Given the description of an element on the screen output the (x, y) to click on. 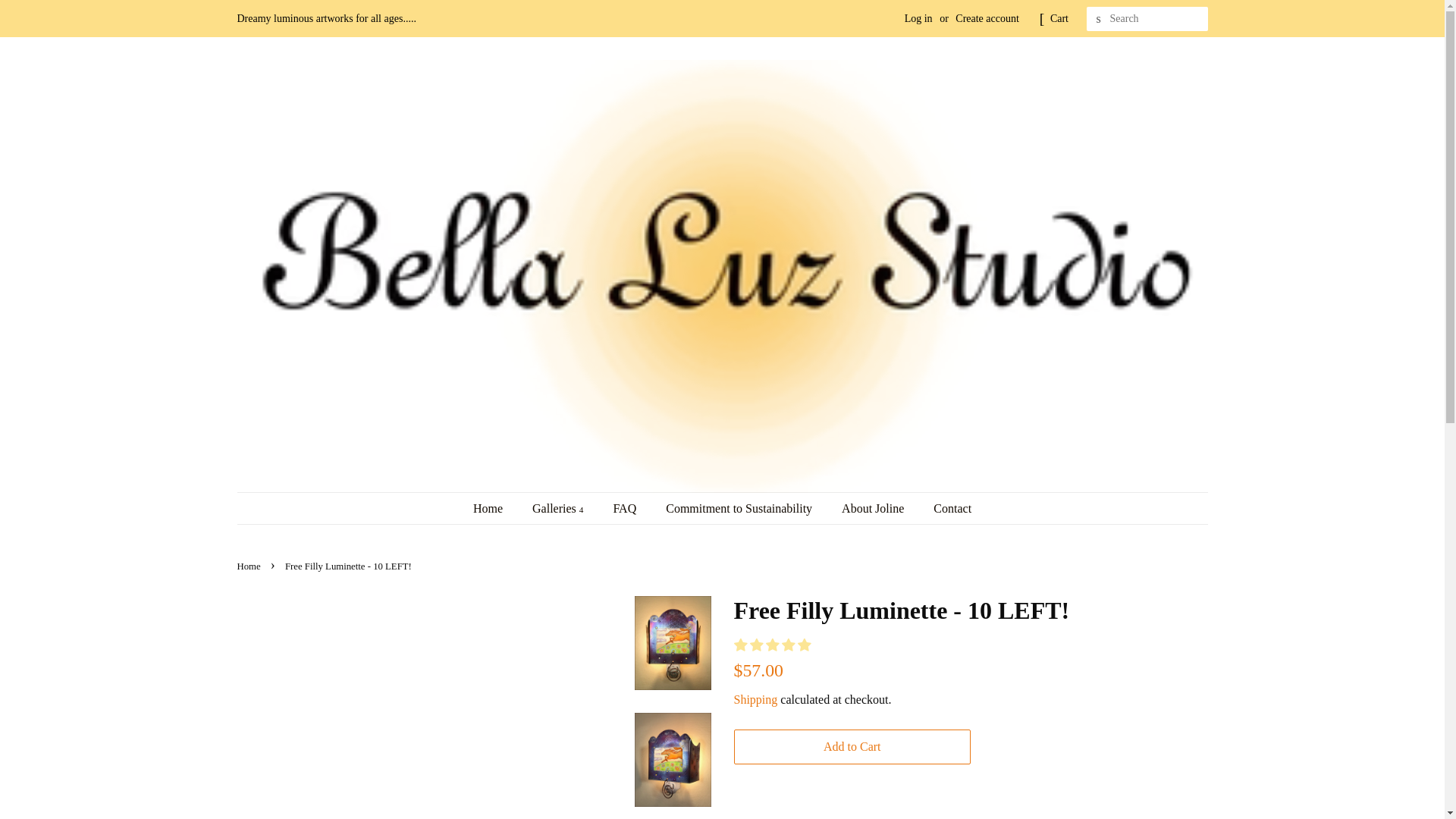
Create account (987, 18)
Search (1097, 18)
Galleries (559, 508)
Home (495, 508)
Log in (918, 18)
Back to the frontpage (249, 566)
Cart (1058, 18)
